Given the description of an element on the screen output the (x, y) to click on. 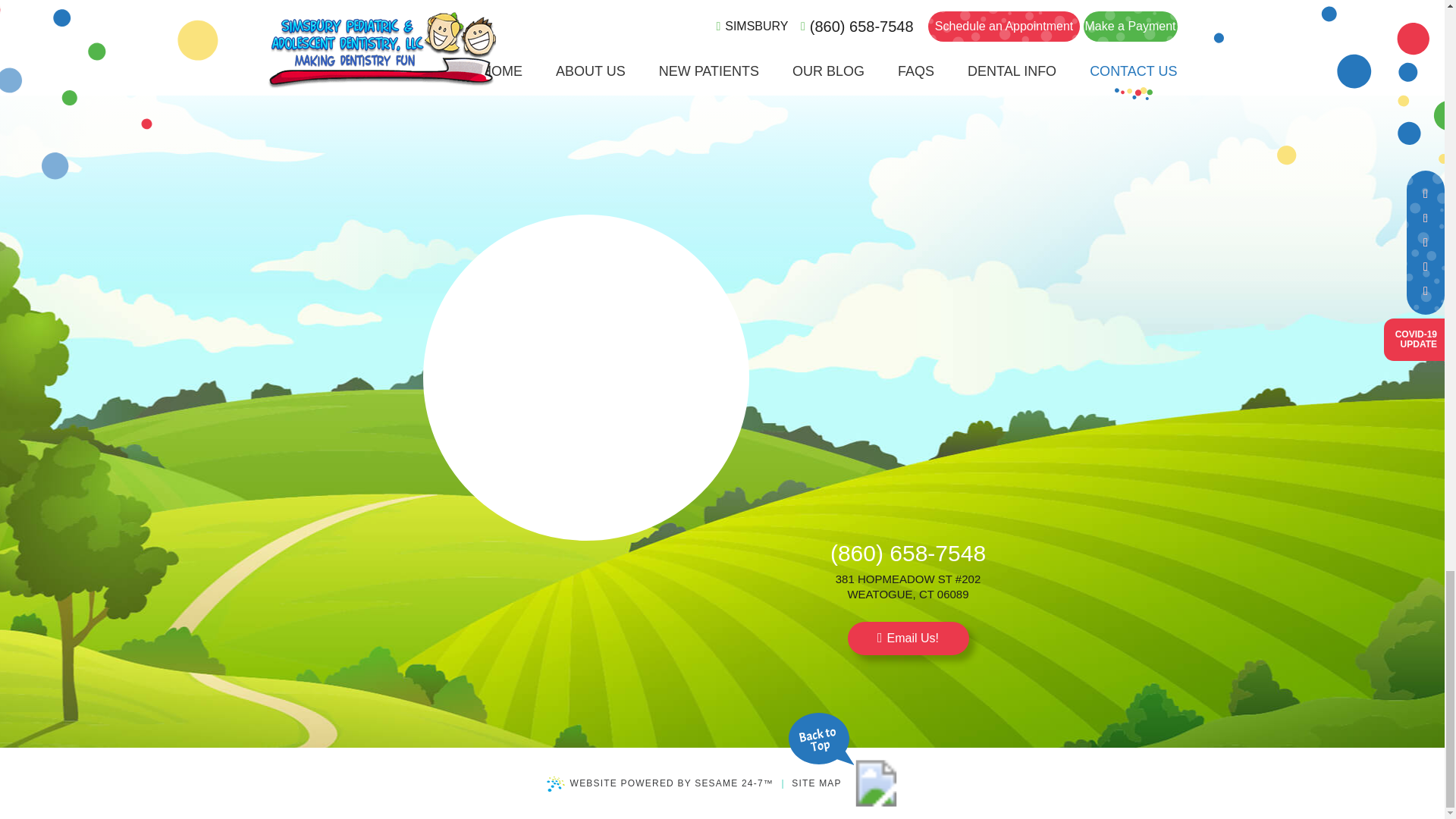
back to top (876, 783)
